Given the description of an element on the screen output the (x, y) to click on. 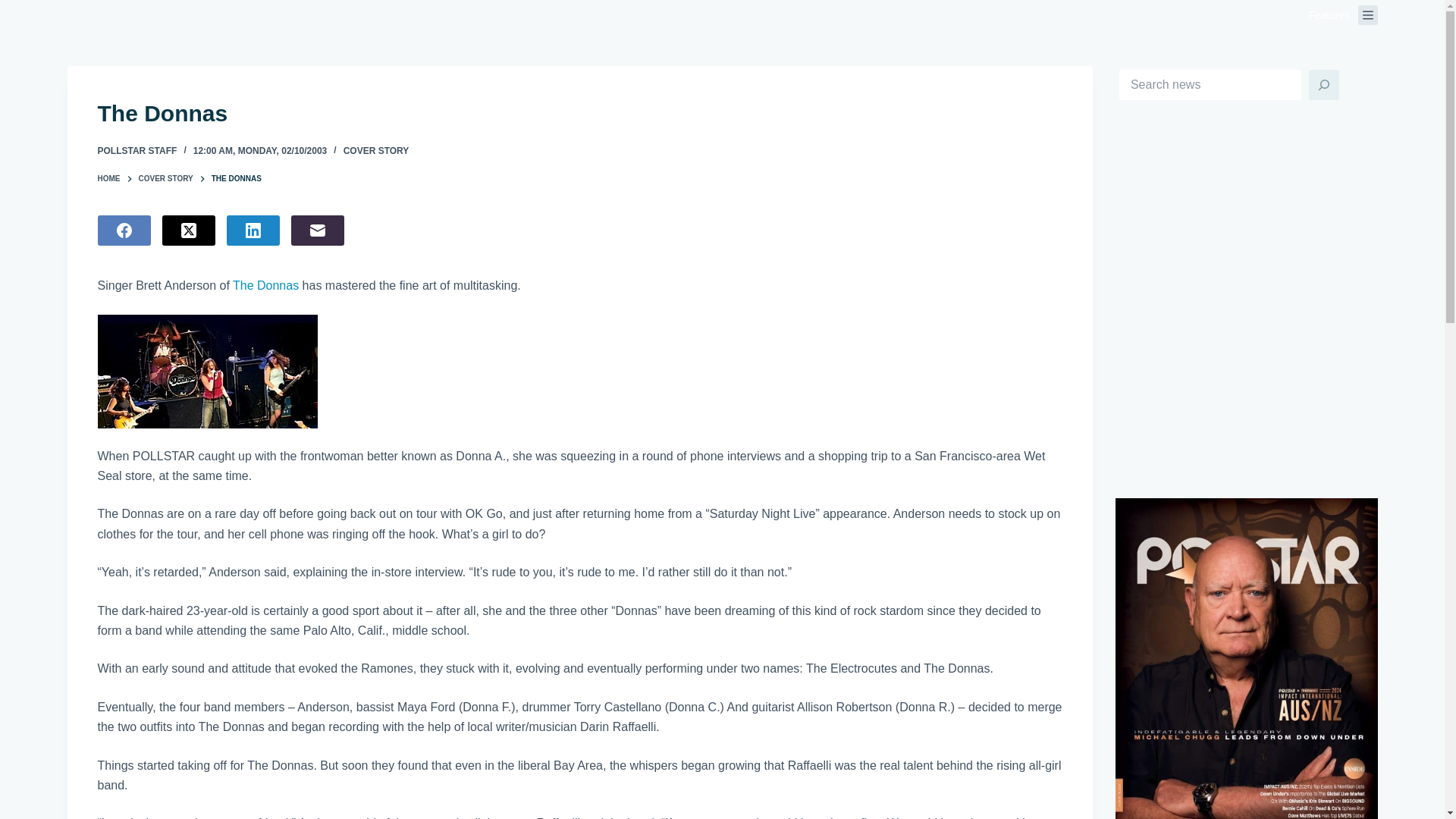
Posts by Pollstar Staff (136, 150)
The Donnas (579, 113)
Skip to content (15, 7)
